Given the description of an element on the screen output the (x, y) to click on. 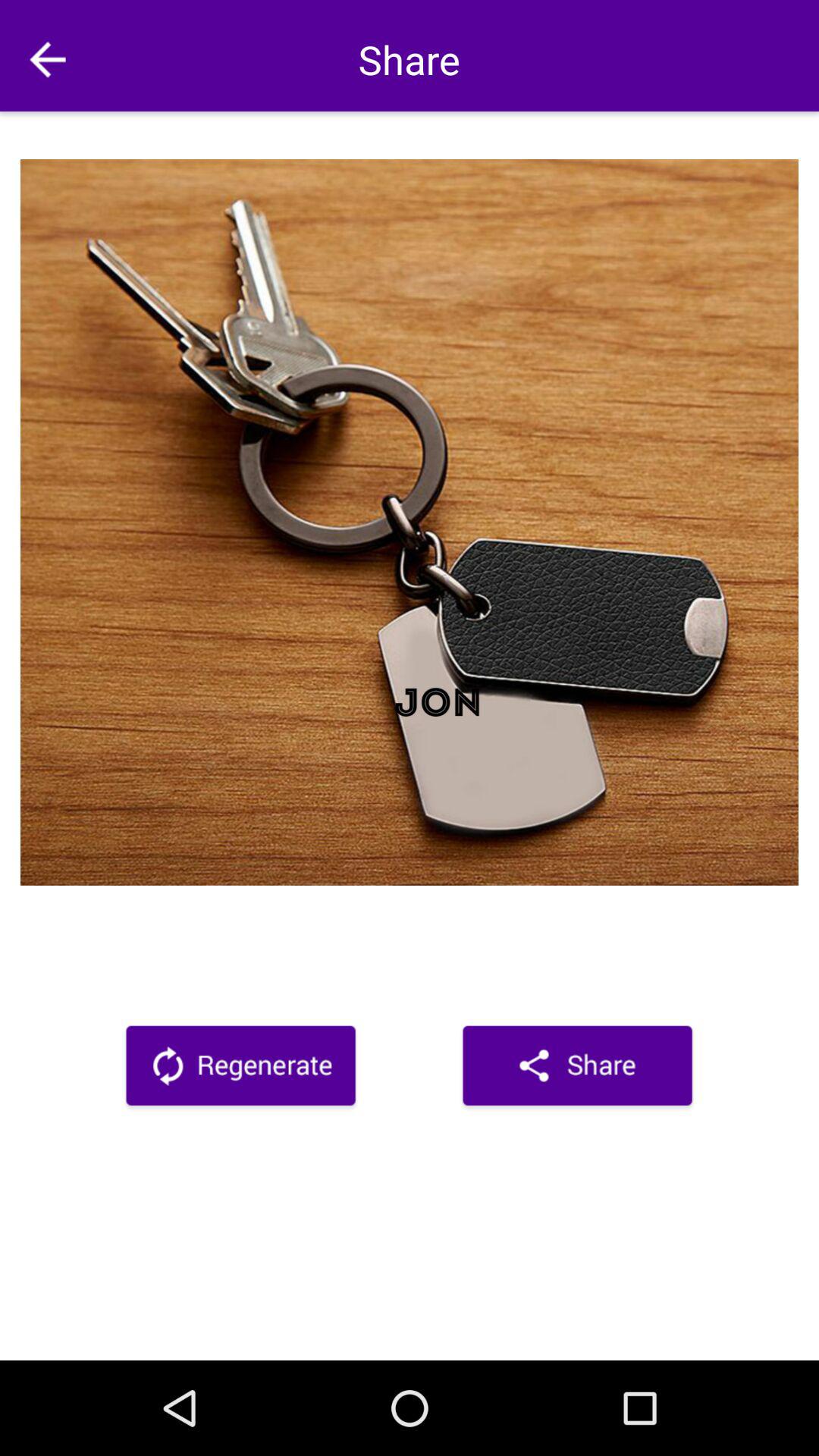
share item (577, 1068)
